Given the description of an element on the screen output the (x, y) to click on. 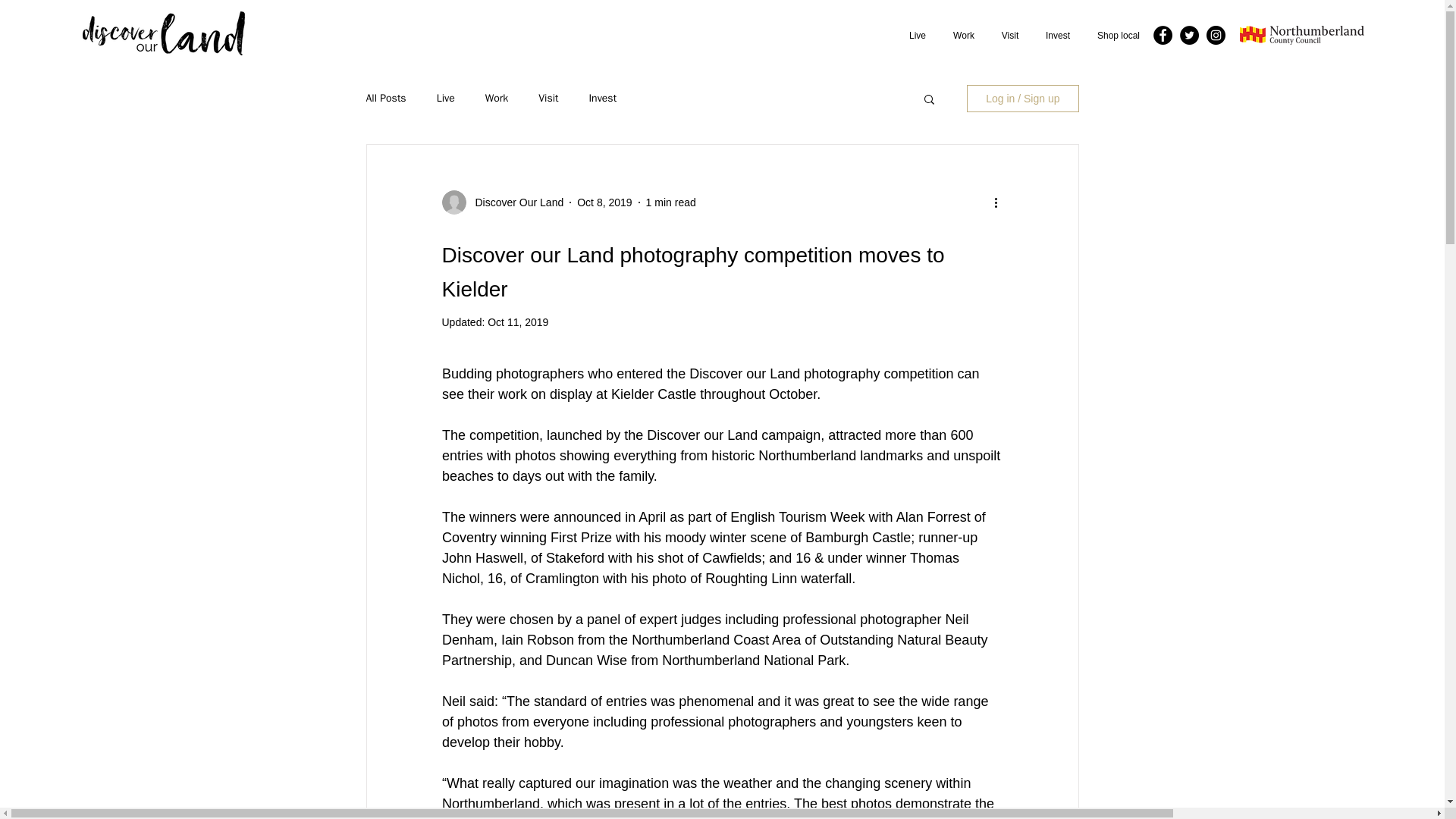
Oct 8, 2019 (603, 201)
Work (963, 35)
Discover Our Land (514, 201)
Shop local (1118, 35)
Invest (1057, 35)
Visit (1010, 35)
Oct 11, 2019 (517, 322)
Live (917, 35)
1 min read (670, 201)
